Given the description of an element on the screen output the (x, y) to click on. 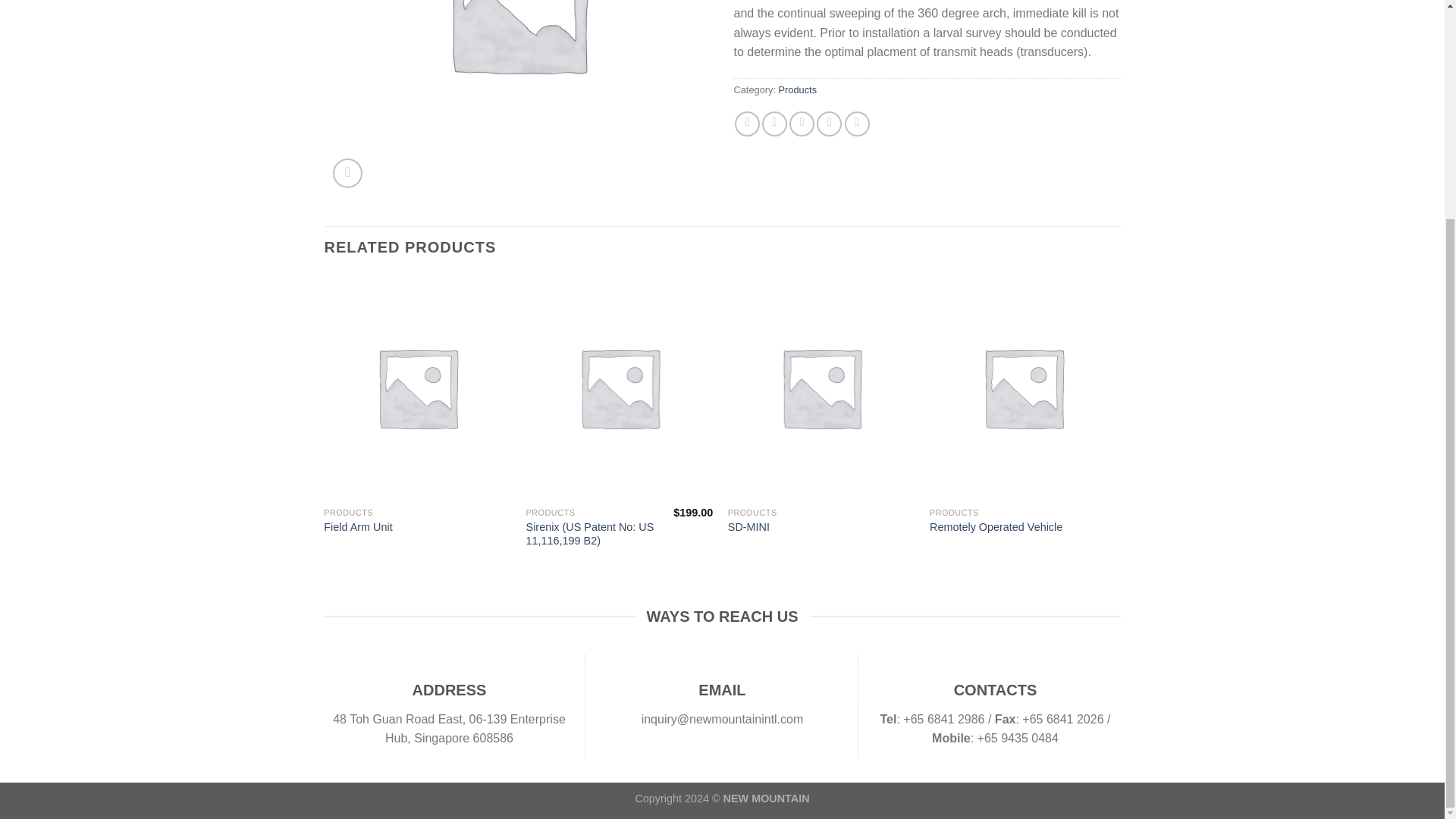
Field Arm Unit (357, 527)
Remotely Operated Vehicle (996, 527)
SD-MINI (749, 527)
Products (797, 89)
